Given the description of an element on the screen output the (x, y) to click on. 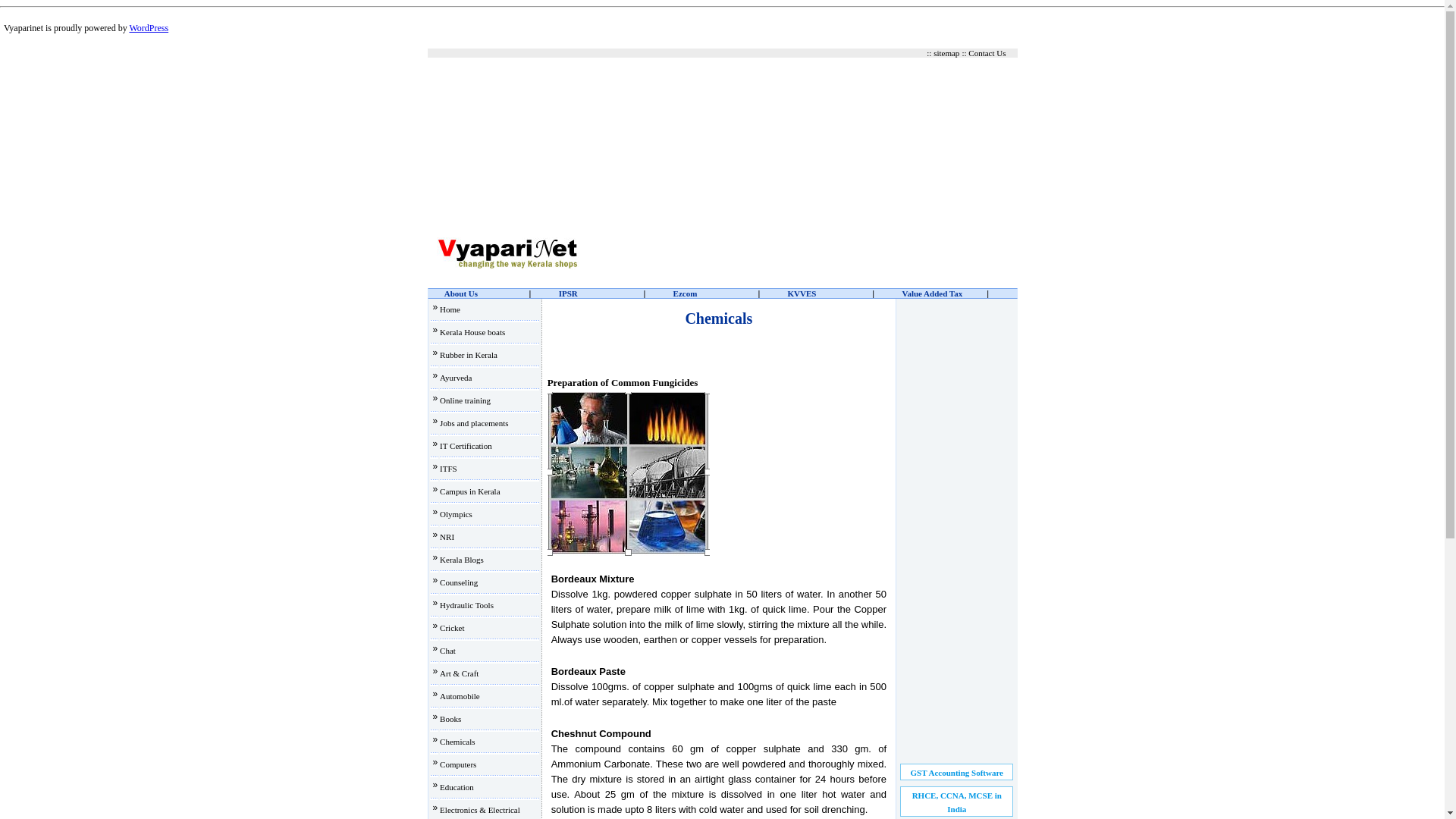
Kerala Blogs (461, 559)
Kerala House boats (472, 331)
Education (456, 786)
:: Contact Us (983, 52)
Automobile (459, 696)
Home (449, 308)
IT Certification (465, 445)
Olympics (455, 513)
Value Added Tax (931, 293)
Campus in Kerala (469, 491)
Chat (447, 650)
Cricket (451, 627)
NRI (446, 536)
Online training (464, 399)
Books (450, 718)
